Given the description of an element on the screen output the (x, y) to click on. 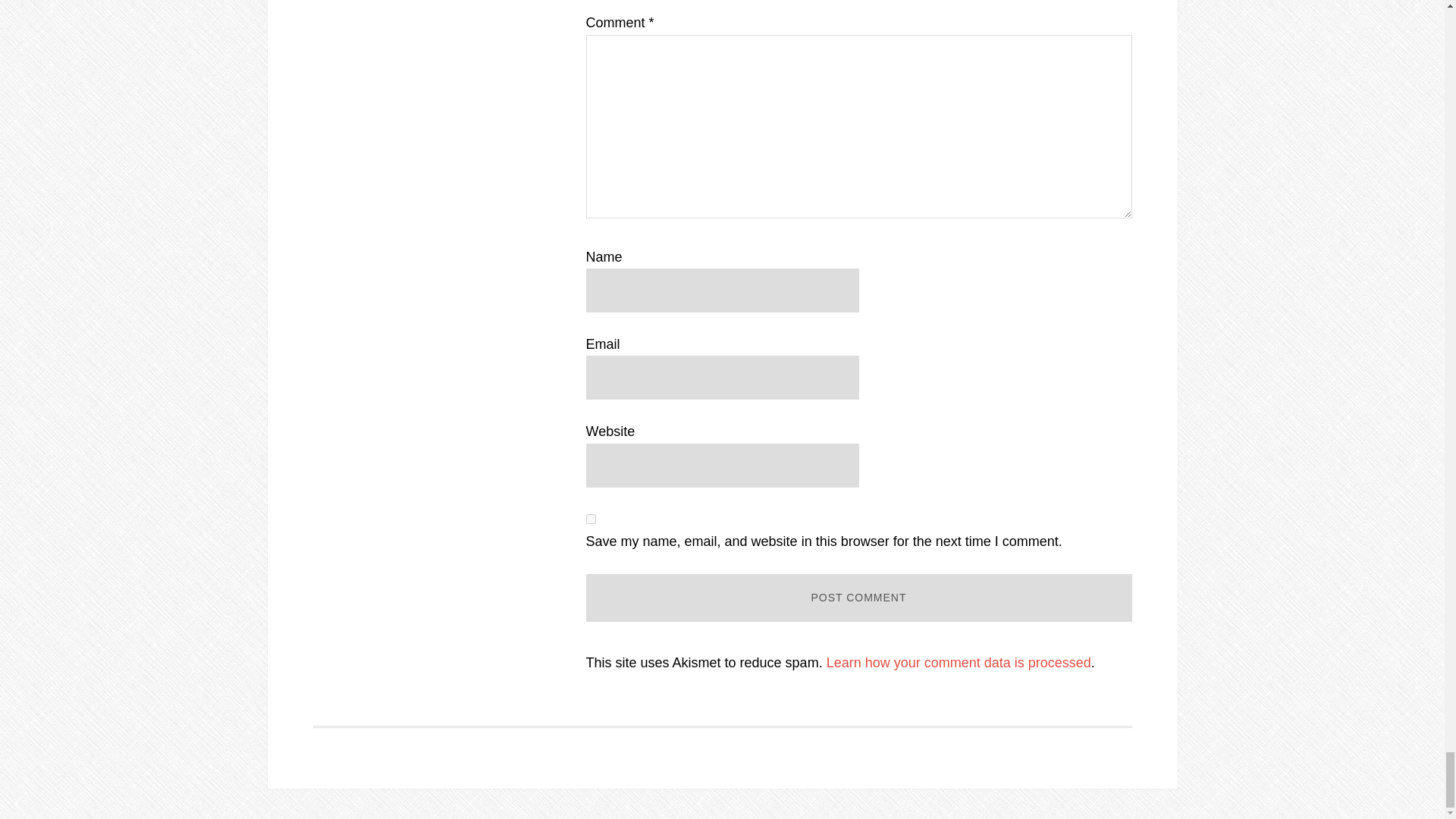
yes (590, 519)
Post Comment (858, 597)
